Given the description of an element on the screen output the (x, y) to click on. 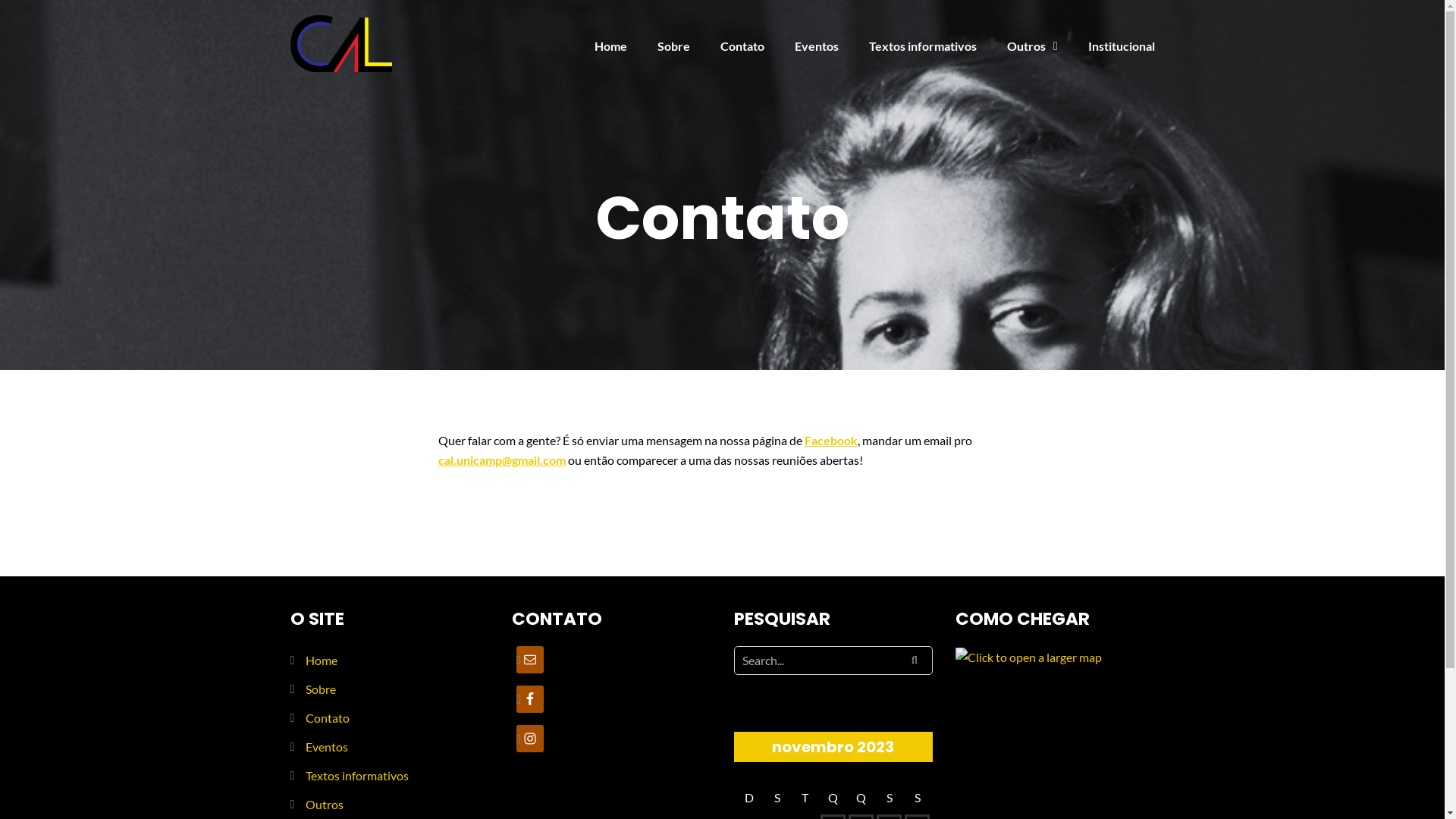
Facebook Element type: text (829, 440)
Textos informativos Element type: text (922, 44)
Click to open a larger map Element type: hover (1028, 657)
Home Element type: text (320, 659)
Contato Element type: text (326, 717)
Eventos Element type: text (816, 44)
Sobre Element type: text (672, 44)
Sobre Element type: text (319, 688)
Contato Element type: text (742, 44)
Institucional Element type: text (1120, 44)
Home Element type: text (610, 44)
Textos informativos Element type: text (355, 775)
Search for: Element type: hover (833, 660)
cal.unicamp@gmail.com Element type: text (501, 459)
Outros Element type: text (323, 804)
Outros Element type: text (1032, 46)
CAL Unicamp Element type: hover (340, 41)
Eventos Element type: text (325, 746)
Click to open a larger map Element type: hover (1028, 655)
